Given the description of an element on the screen output the (x, y) to click on. 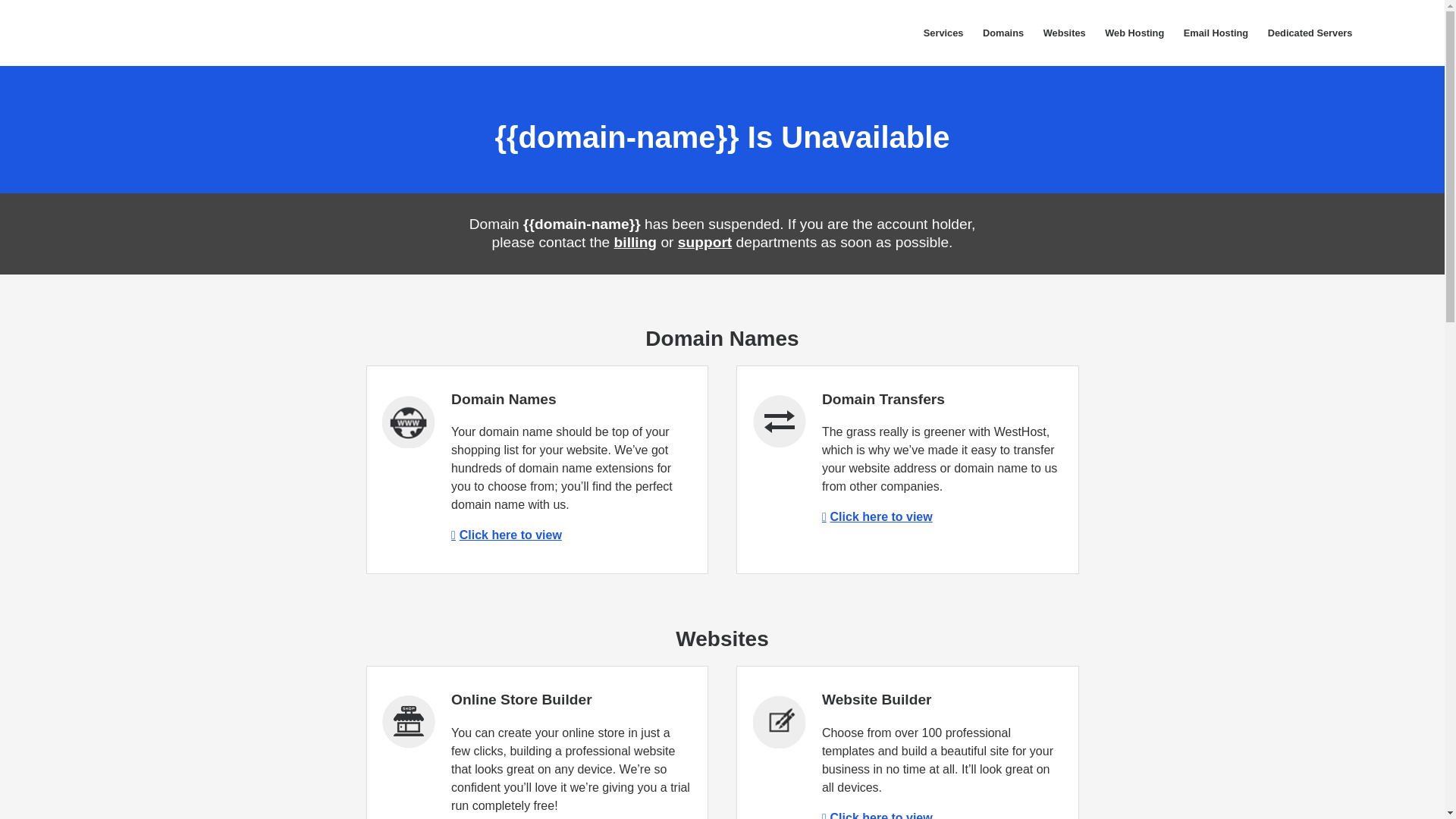
billing (636, 242)
Dedicated Servers (1309, 32)
Email Hosting (1215, 32)
Services (943, 32)
Click here to view (877, 815)
Click here to view (506, 534)
Domains (1002, 32)
Websites (1064, 32)
Web Hosting (1133, 32)
support (705, 242)
Click here to view (877, 516)
